Given the description of an element on the screen output the (x, y) to click on. 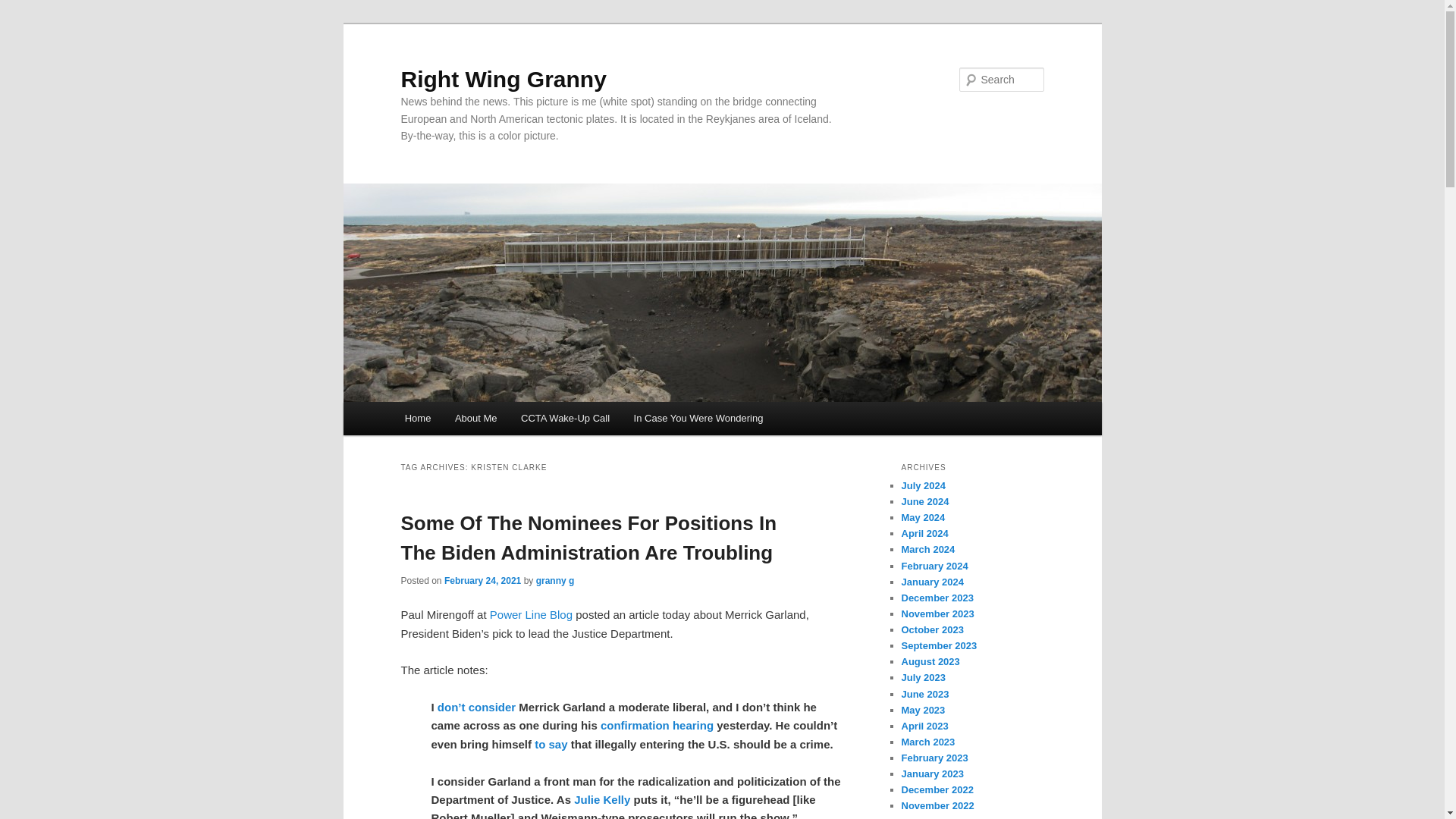
June 2024 (925, 501)
July 2024 (922, 485)
View all posts by granny g (555, 580)
April 2024 (924, 532)
confirmation hearing (656, 725)
Home (417, 418)
February 2024 (934, 565)
August 2023 (930, 661)
October 2023 (931, 629)
September 2023 (938, 645)
In Case You Were Wondering (697, 418)
February 24, 2021 (482, 580)
Power Line Blog (530, 614)
Search (24, 8)
granny g (555, 580)
